Given the description of an element on the screen output the (x, y) to click on. 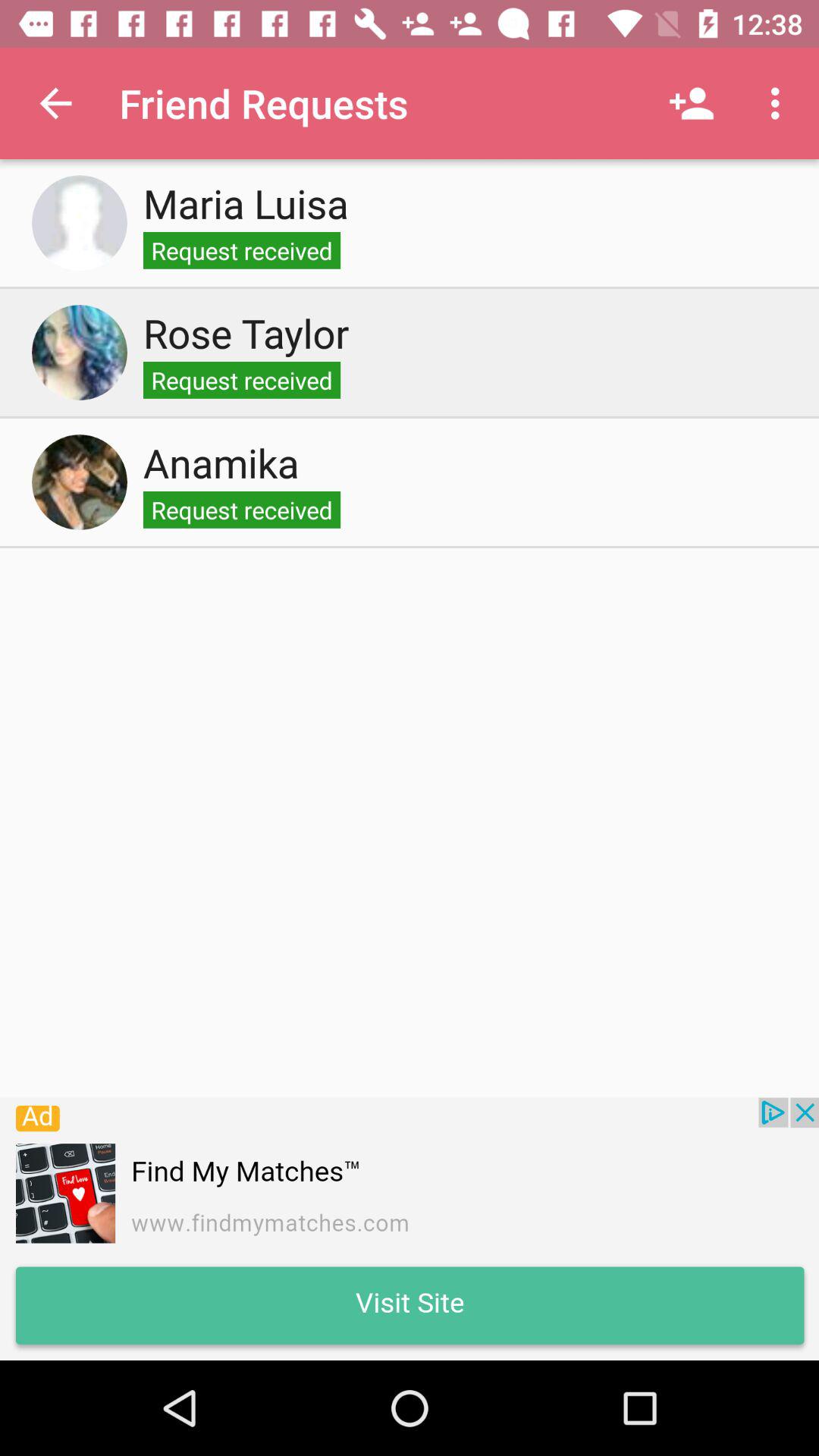
visit advertisement (409, 1228)
